Given the description of an element on the screen output the (x, y) to click on. 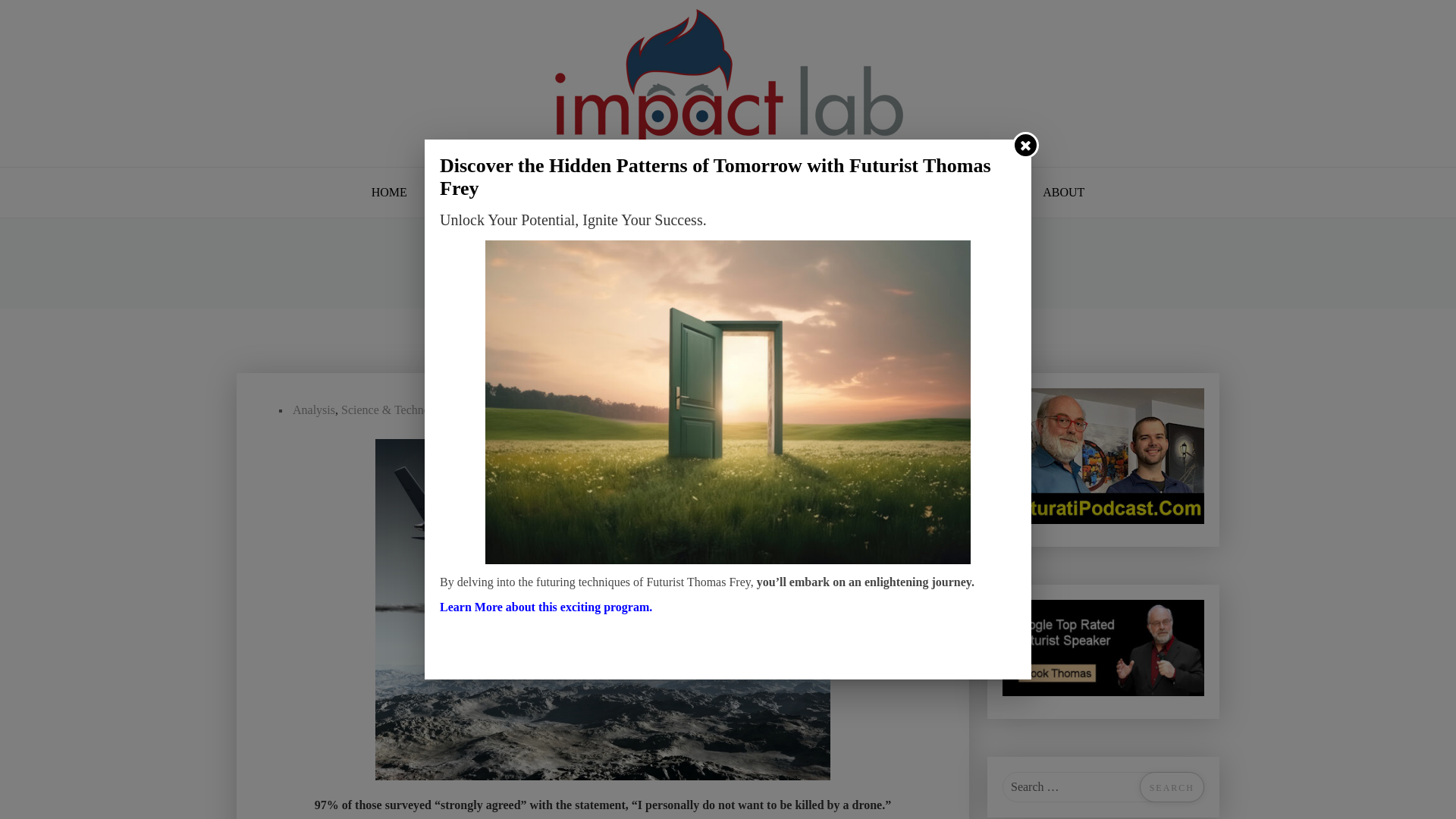
IMPACT LAB (501, 279)
Go to Impact Lab. (501, 279)
FUTURATI PODCAST (498, 192)
BOOK THOMAS FREY (799, 192)
FUTURIST SPEAKER (647, 192)
DAVINCI INSTITUTE (952, 192)
HOME (389, 192)
Search (1172, 787)
Search (1172, 787)
Search (1172, 787)
Analysis (313, 410)
Weapons (509, 410)
ABOUT (1063, 192)
ANALYSIS (584, 279)
